Given the description of an element on the screen output the (x, y) to click on. 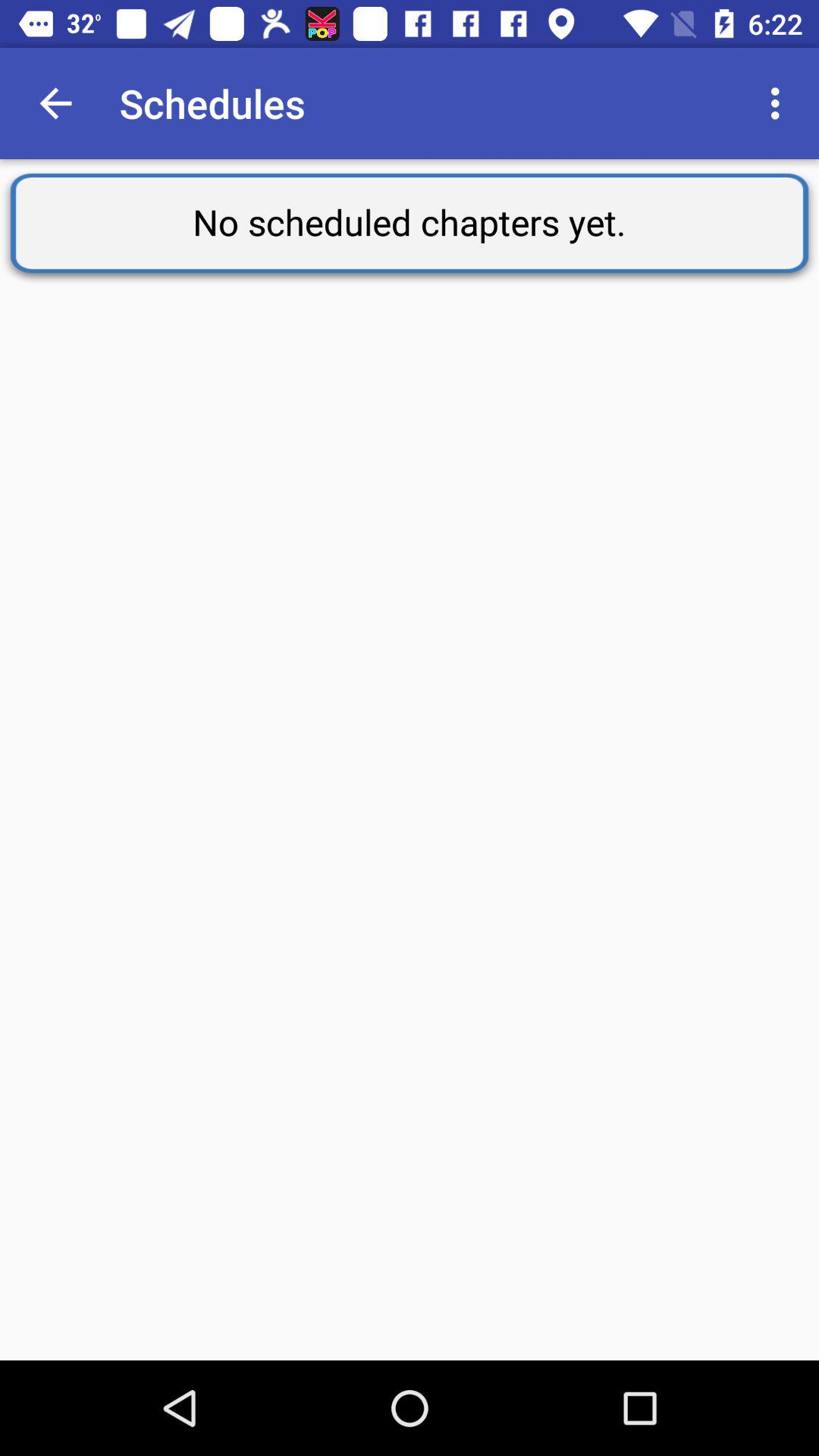
select the item at the top right corner (779, 103)
